Given the description of an element on the screen output the (x, y) to click on. 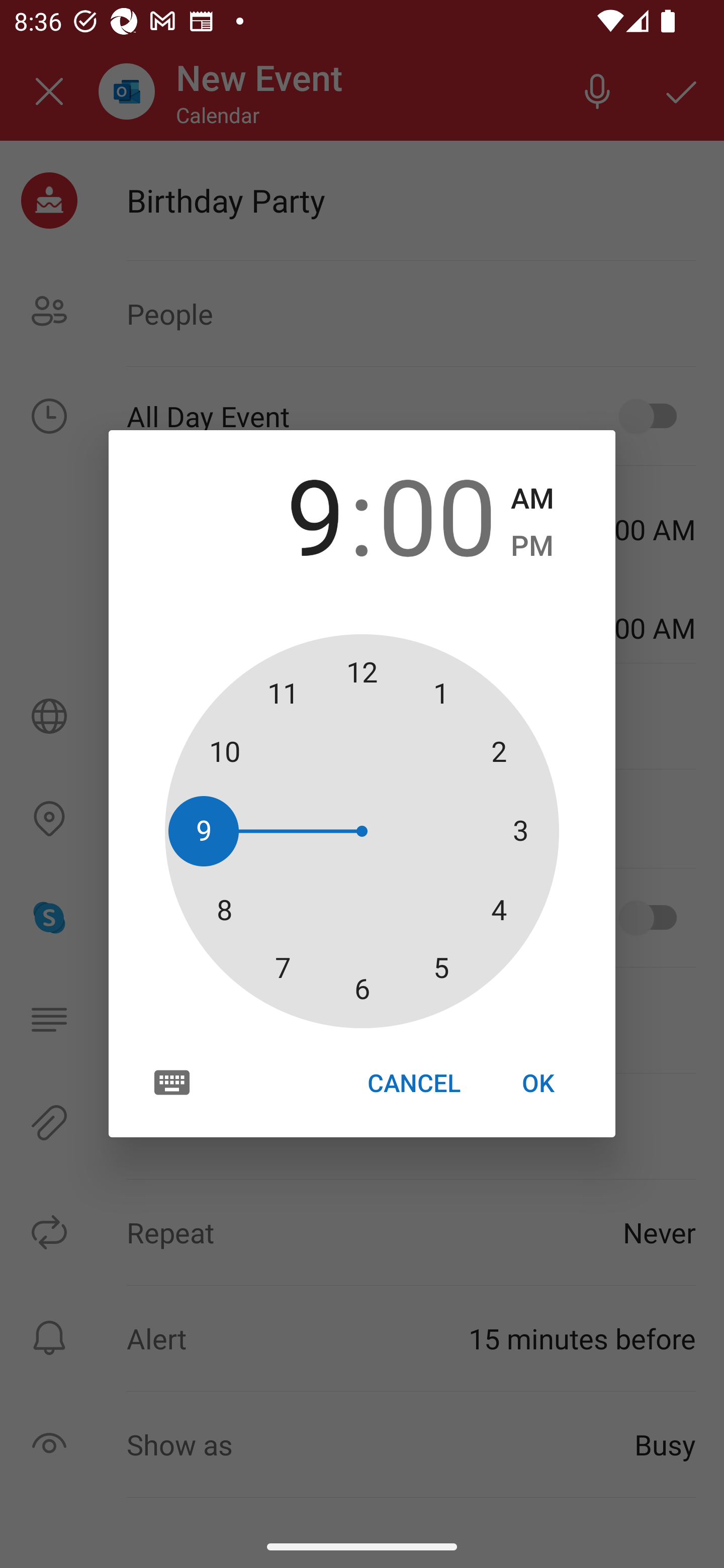
9 (285, 513)
00 (436, 513)
AM (532, 498)
PM (532, 546)
CANCEL (413, 1082)
OK (537, 1082)
Switch to text input mode for the time input. (171, 1081)
